Given the description of an element on the screen output the (x, y) to click on. 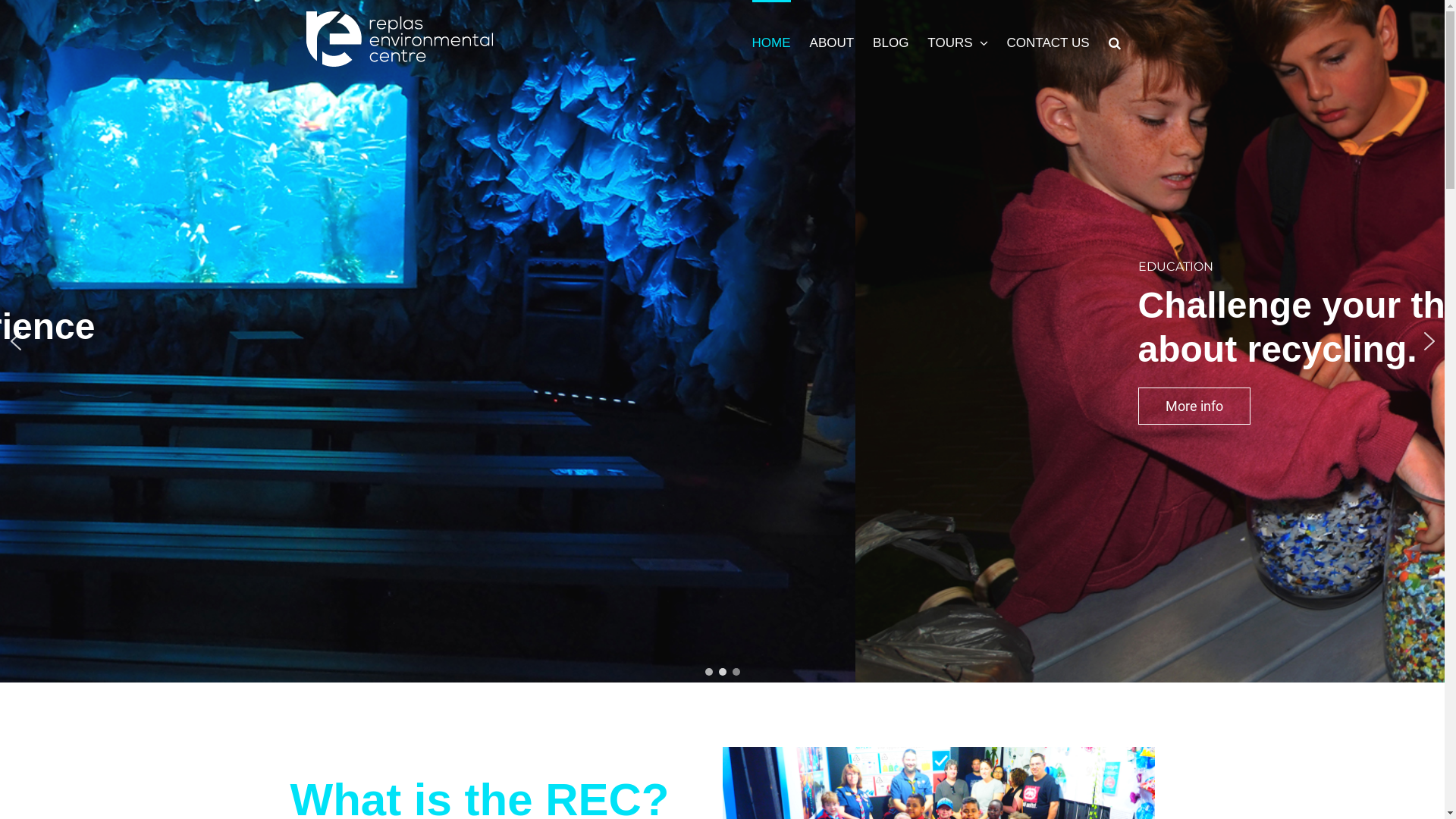
Search Element type: hover (1114, 41)
ABOUT Element type: text (831, 41)
HOME Element type: text (771, 41)
BLOG Element type: text (890, 41)
Book now Element type: text (338, 422)
TOURS Element type: text (957, 41)
CONTACT US Element type: text (1048, 41)
